Given the description of an element on the screen output the (x, y) to click on. 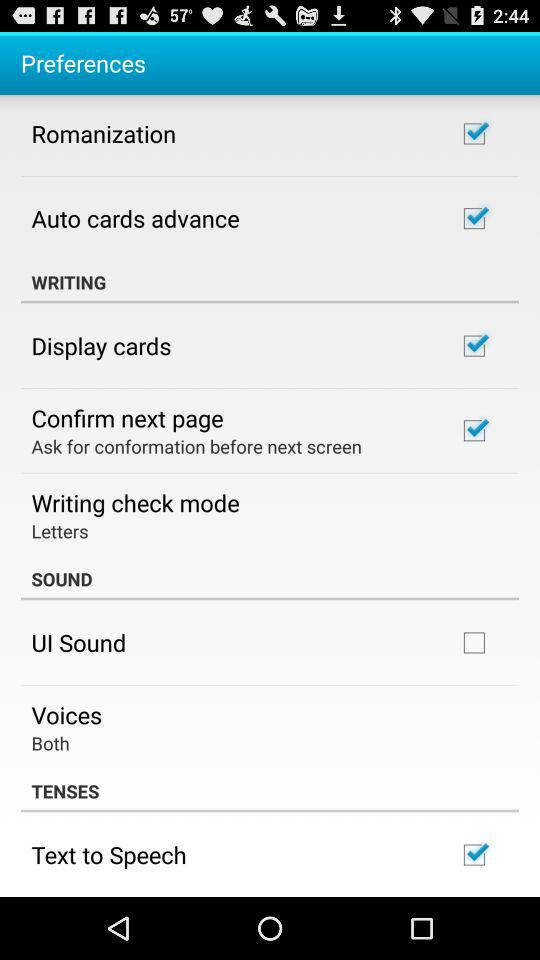
turn off the item below sound icon (78, 642)
